Given the description of an element on the screen output the (x, y) to click on. 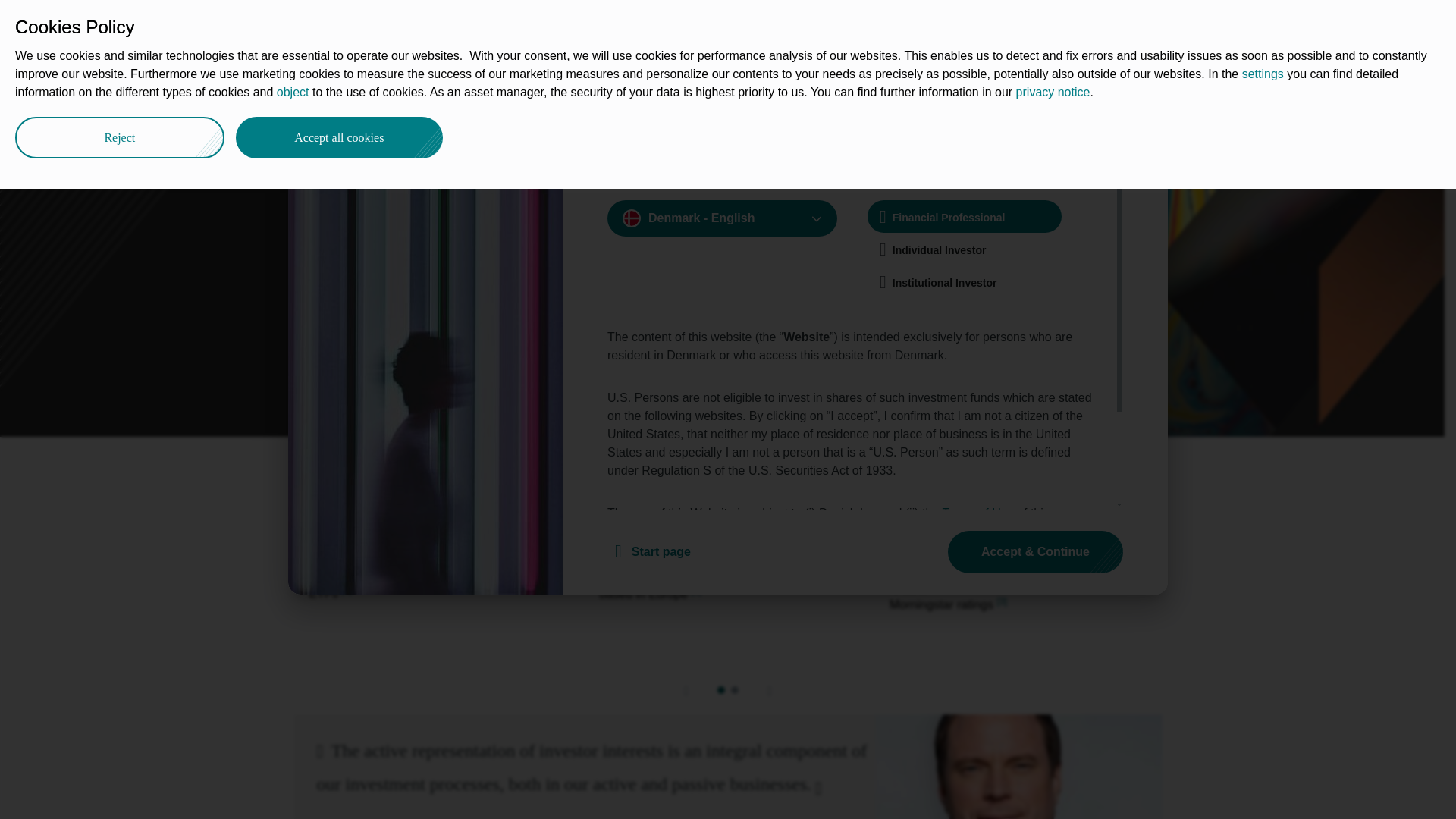
Capabilities (370, 92)
Solutions (586, 24)
Share (1140, 90)
Home (307, 92)
Capabilities (501, 24)
Capabilities (370, 92)
DWS - Investors for a new now (307, 92)
